Given the description of an element on the screen output the (x, y) to click on. 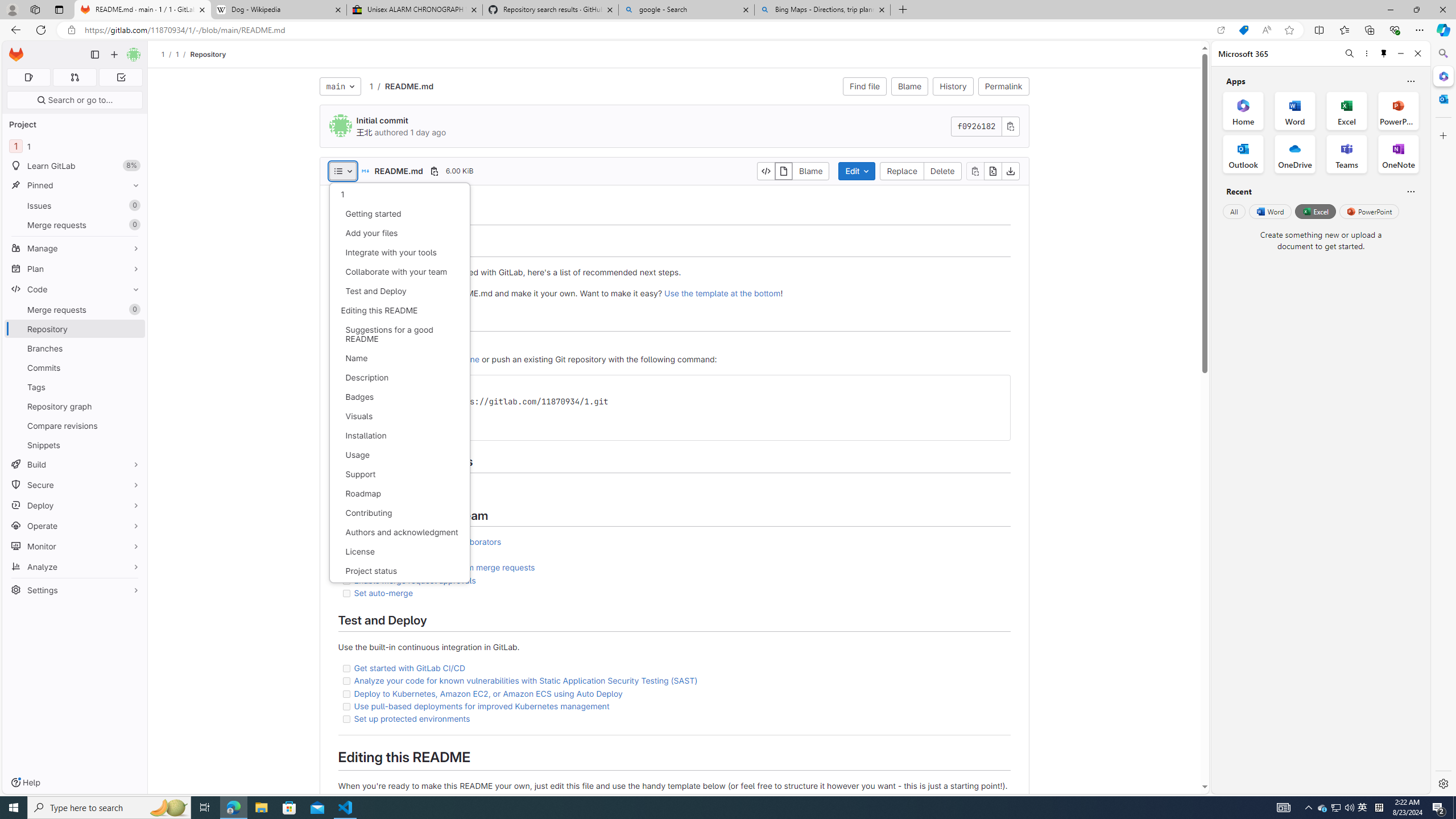
Find file (864, 85)
PowerPoint Office App (1398, 110)
Code (74, 289)
Is this helpful? (1410, 191)
Initial commit (381, 120)
Copy file path (434, 171)
upload (404, 346)
Create a new merge request (407, 554)
Assigned issues 0 (28, 76)
11 (74, 145)
